Given the description of an element on the screen output the (x, y) to click on. 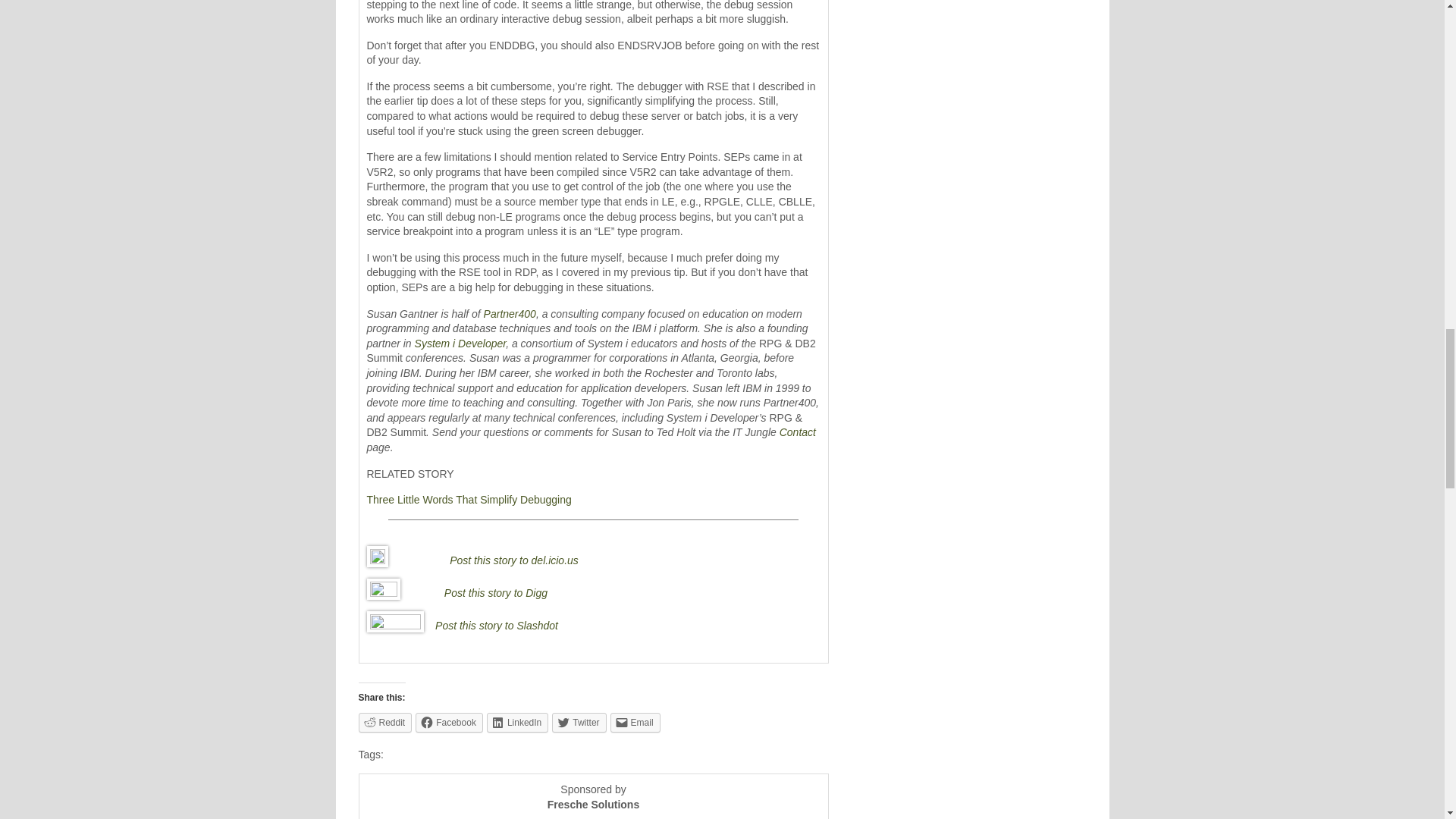
Partner400 (509, 313)
Post this story to Digg (495, 592)
System i Developer (460, 343)
Click to share on Reddit (385, 722)
Contact (796, 431)
Post this story to Slashdot (496, 625)
Facebook (448, 722)
Click to share on Twitter (578, 722)
Three Little Words That Simplify Debugging (469, 499)
Click to email a link to a friend (635, 722)
Click to share on Facebook (448, 722)
Click to share on LinkedIn (517, 722)
LinkedIn (517, 722)
Email (635, 722)
Reddit (385, 722)
